Given the description of an element on the screen output the (x, y) to click on. 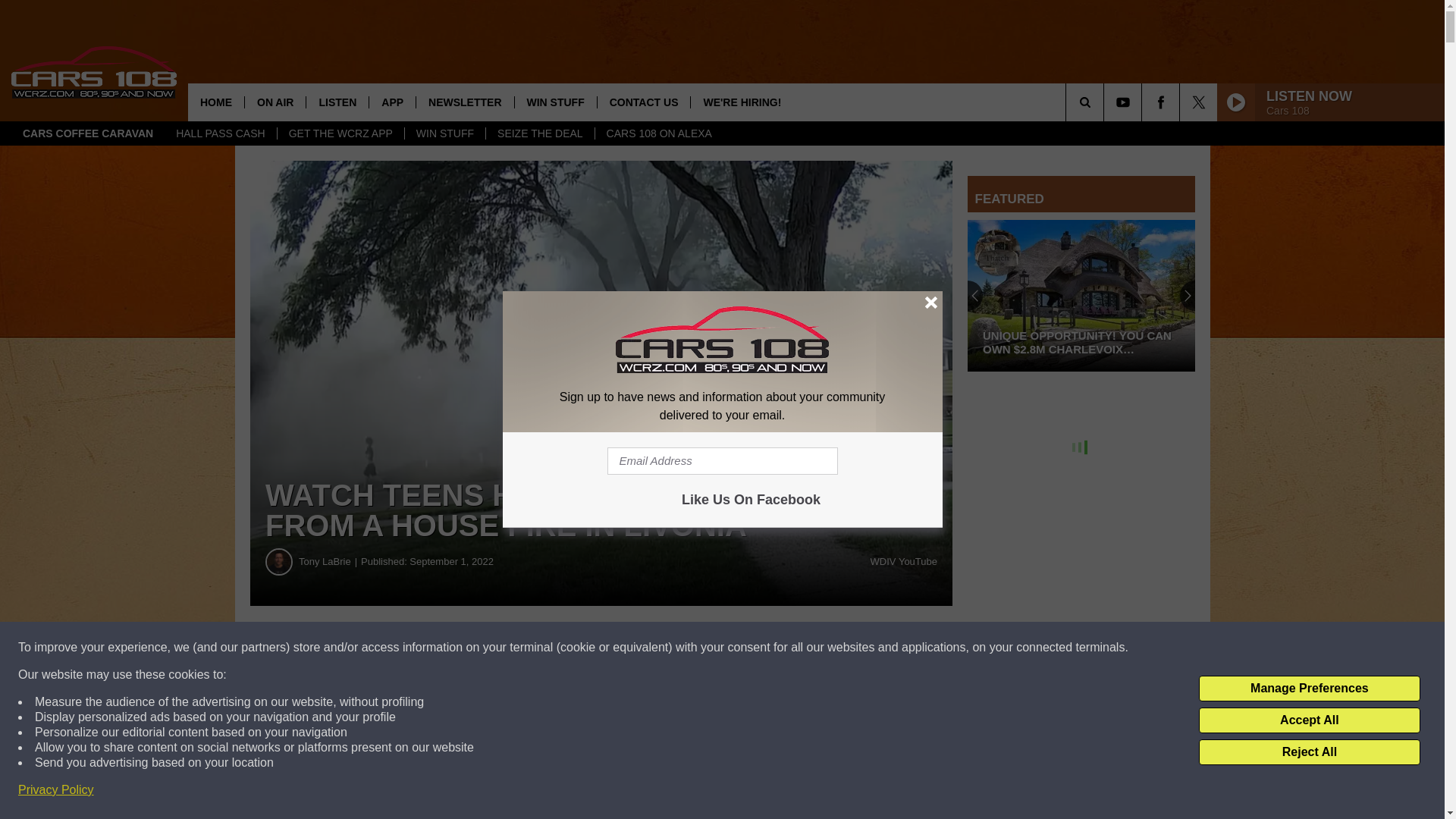
CARS COFFEE CARAVAN (87, 133)
Privacy Policy (55, 789)
CONTACT US (643, 102)
HOME (215, 102)
Share on Twitter (741, 647)
Accept All (1309, 720)
GET THE WCRZ APP (340, 133)
WE'RE HIRING! (741, 102)
SEARCH (1106, 102)
CARS 108 ON ALEXA (658, 133)
SEIZE THE DEAL (539, 133)
HALL PASS CASH (220, 133)
SEARCH (1106, 102)
Manage Preferences (1309, 688)
Email Address (722, 461)
